Given the description of an element on the screen output the (x, y) to click on. 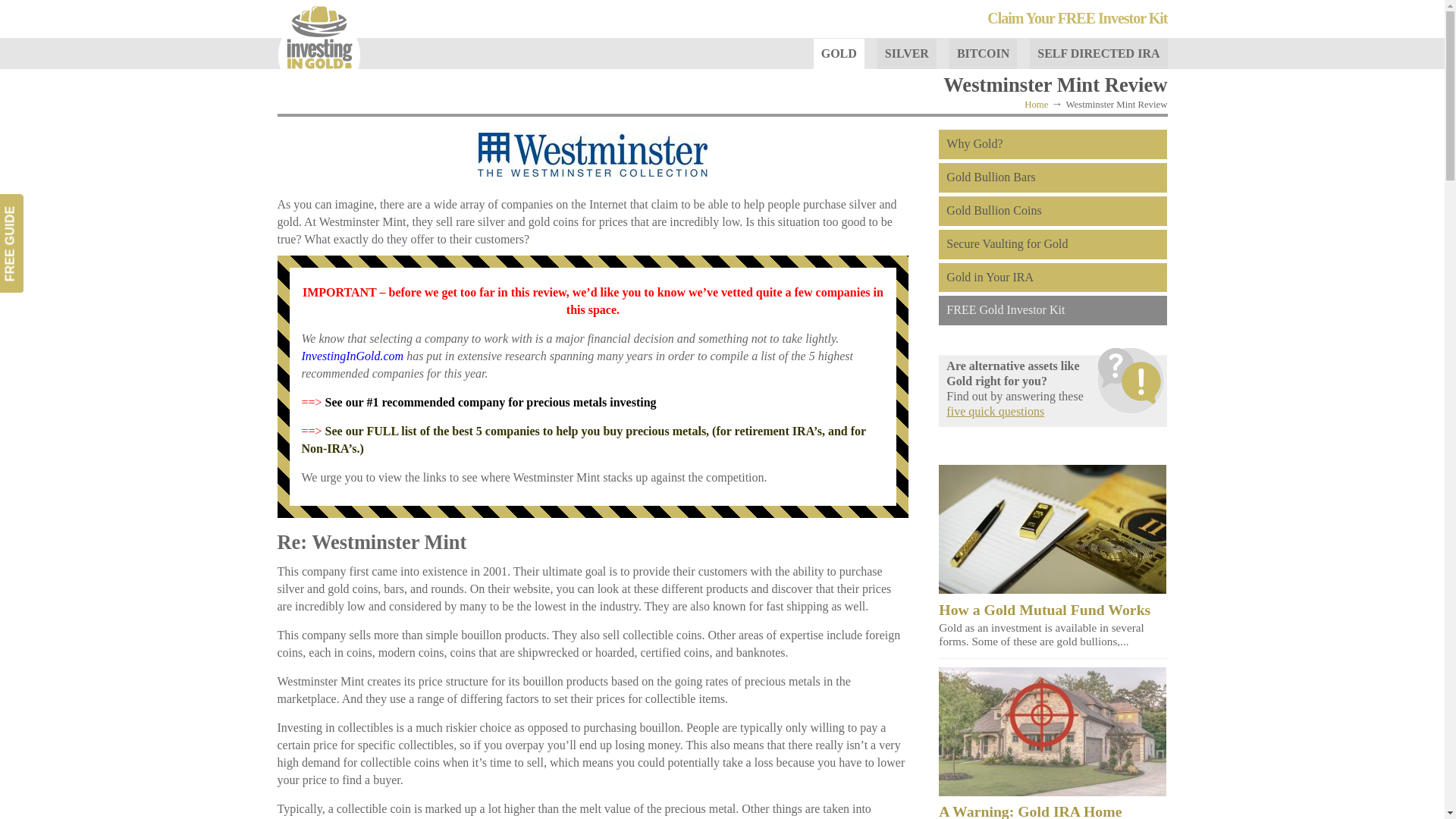
A Warning: Gold IRA Home Storage (1052, 791)
Secure Vaulting for Gold (1053, 244)
Home (1036, 104)
BITCOIN (990, 53)
Investing In Gold (319, 39)
Gold in Your IRA (1053, 277)
five quick questions (994, 410)
A Warning: Gold IRA Home Storage (1030, 811)
FREE GUIDE (48, 207)
How a Gold Mutual Fund Works (1044, 609)
SELF DIRECTED IRA (1105, 53)
Gold Bullion Bars (1053, 177)
GOLD (846, 53)
Why Gold? (1053, 143)
How a Gold Mutual Fund Works (1052, 589)
